Given the description of an element on the screen output the (x, y) to click on. 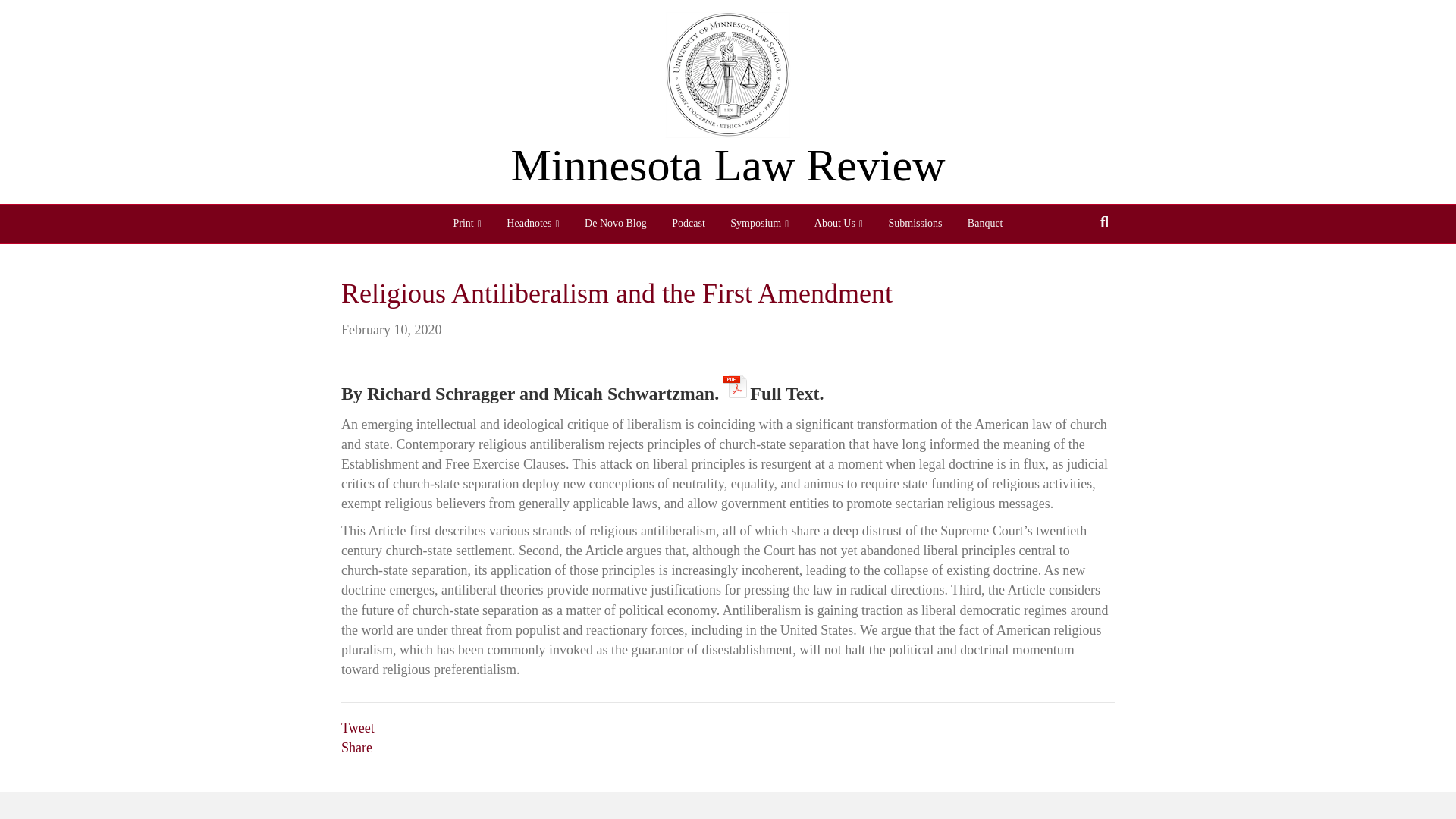
Submissions (915, 223)
Headnotes (532, 223)
Tweet (357, 727)
Podcast (688, 223)
About Us (839, 223)
Full Text. (773, 385)
De Novo Blog (615, 223)
Minnesota Law Review (727, 165)
Symposium (759, 223)
Banquet (985, 223)
Share (356, 747)
Print (466, 223)
